Given the description of an element on the screen output the (x, y) to click on. 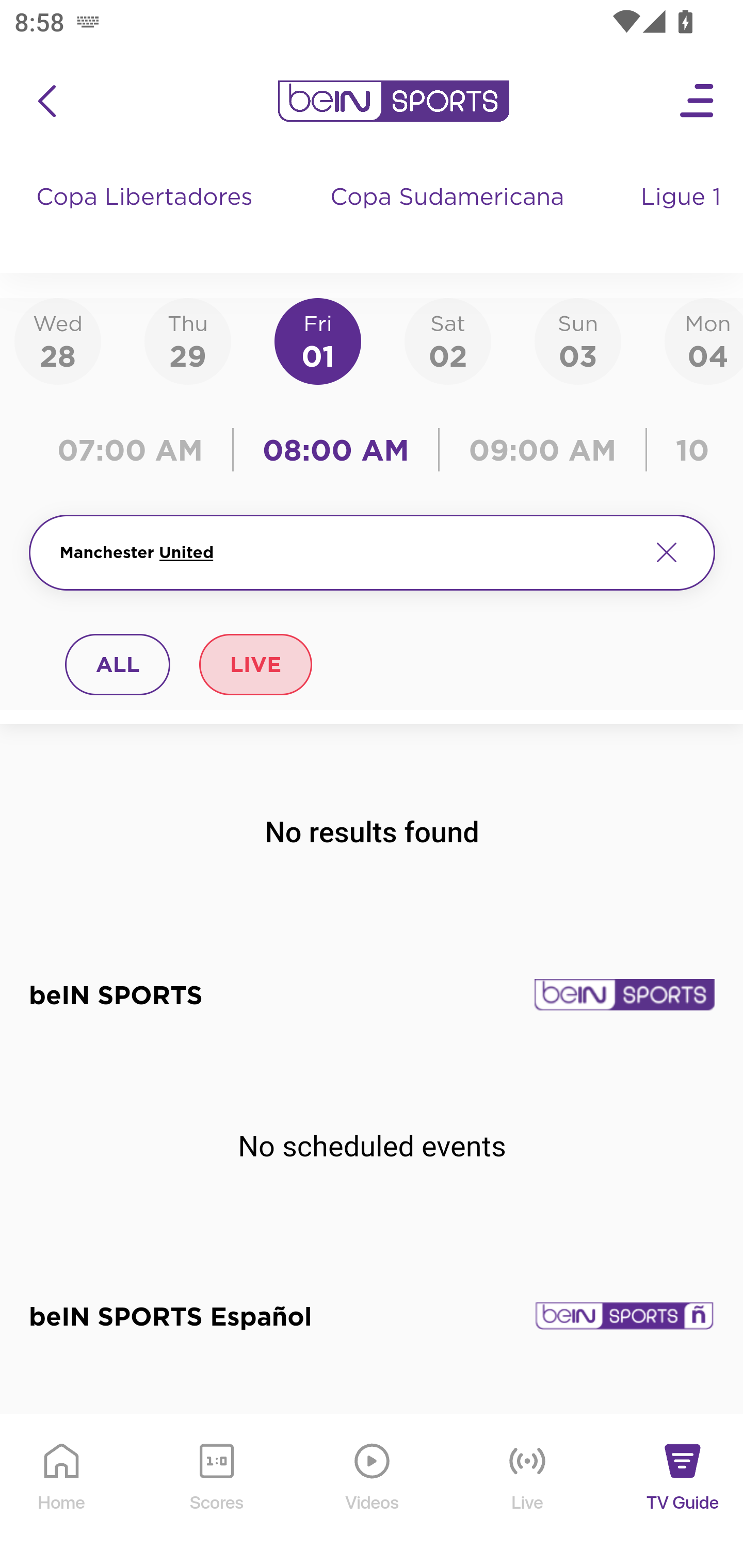
en-us?platform=mobile_android bein logo (392, 101)
icon back (46, 101)
Open Menu Icon (697, 101)
Copa Libertadores (146, 216)
Copa Sudamericana (448, 216)
Ligue 1 (682, 216)
Wed28 (58, 340)
Thu29 (187, 340)
Fri01 (318, 340)
Sat02 (447, 340)
Sun03 (578, 340)
Mon04 (703, 340)
07:00 AM (135, 449)
08:00 AM (336, 449)
09:00 AM (542, 449)
Manchester United (346, 552)
ALL (118, 663)
LIVE (255, 663)
Home Home Icon Home (61, 1491)
Scores Scores Icon Scores (216, 1491)
Videos Videos Icon Videos (372, 1491)
TV Guide TV Guide Icon TV Guide (682, 1491)
